Given the description of an element on the screen output the (x, y) to click on. 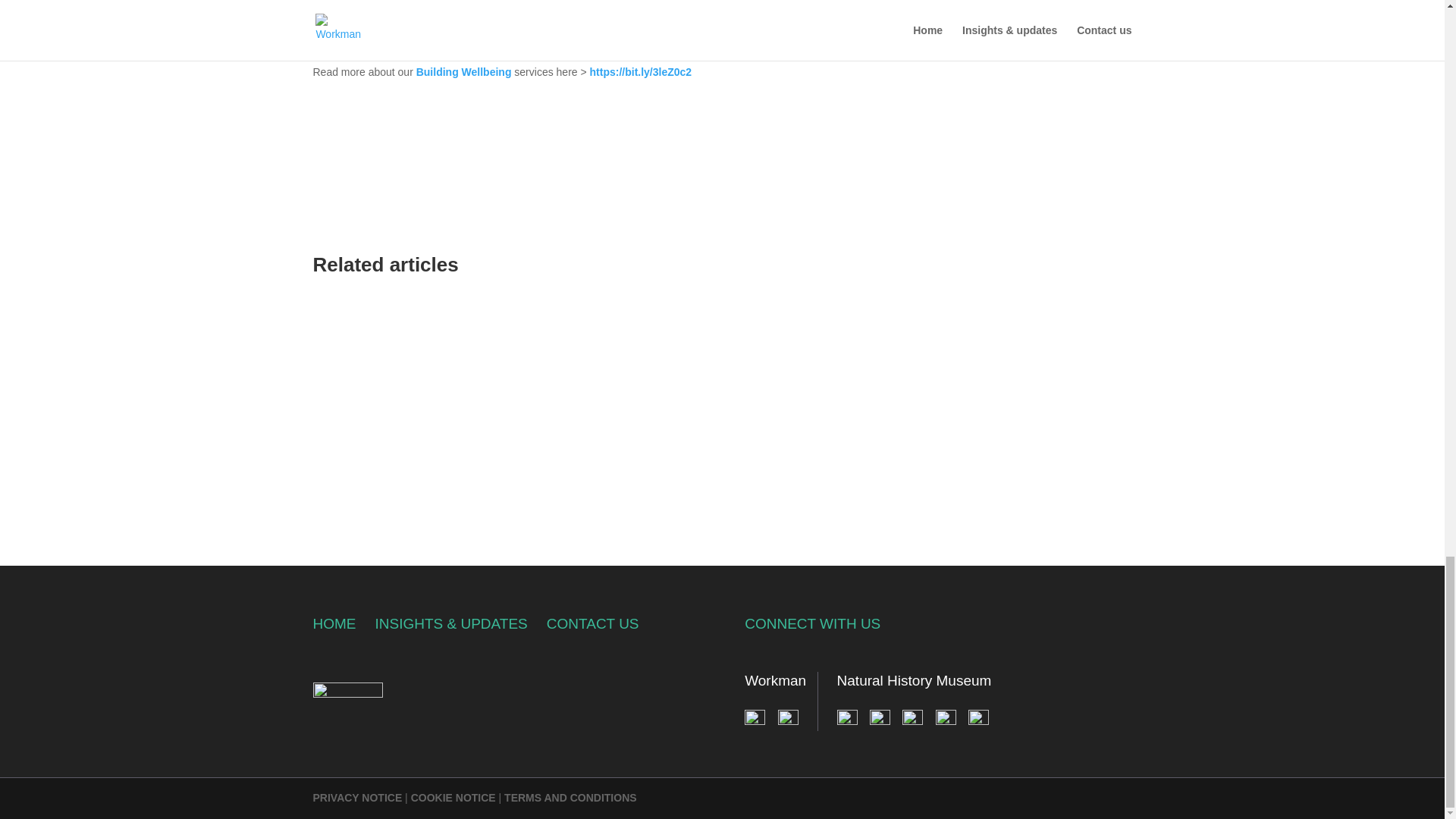
Building Biodiversity (469, 14)
Building Wellbeing (464, 71)
Net Zero Asset Plans (456, 42)
